Given the description of an element on the screen output the (x, y) to click on. 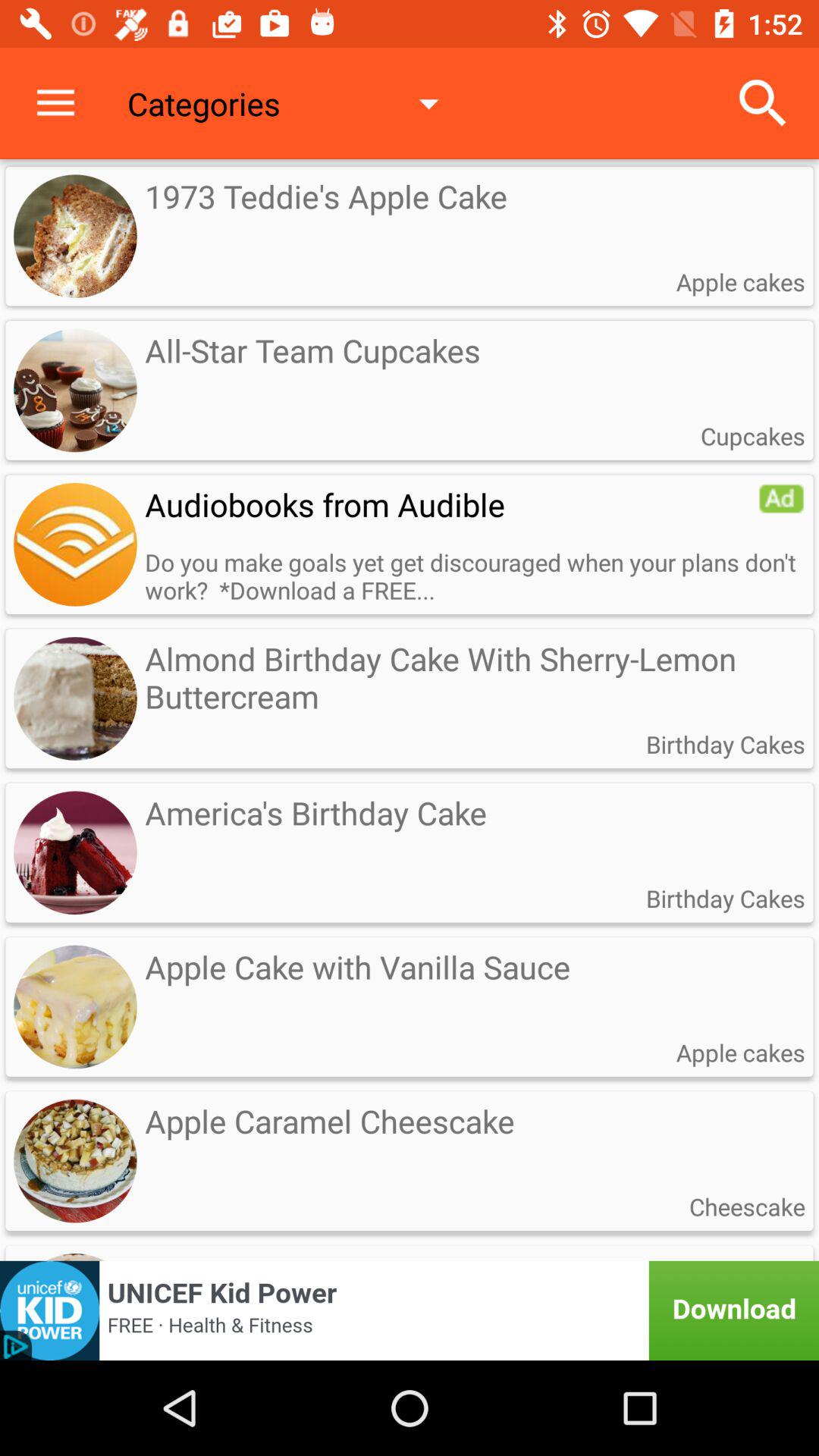
choose icon next to categories item (763, 103)
